Given the description of an element on the screen output the (x, y) to click on. 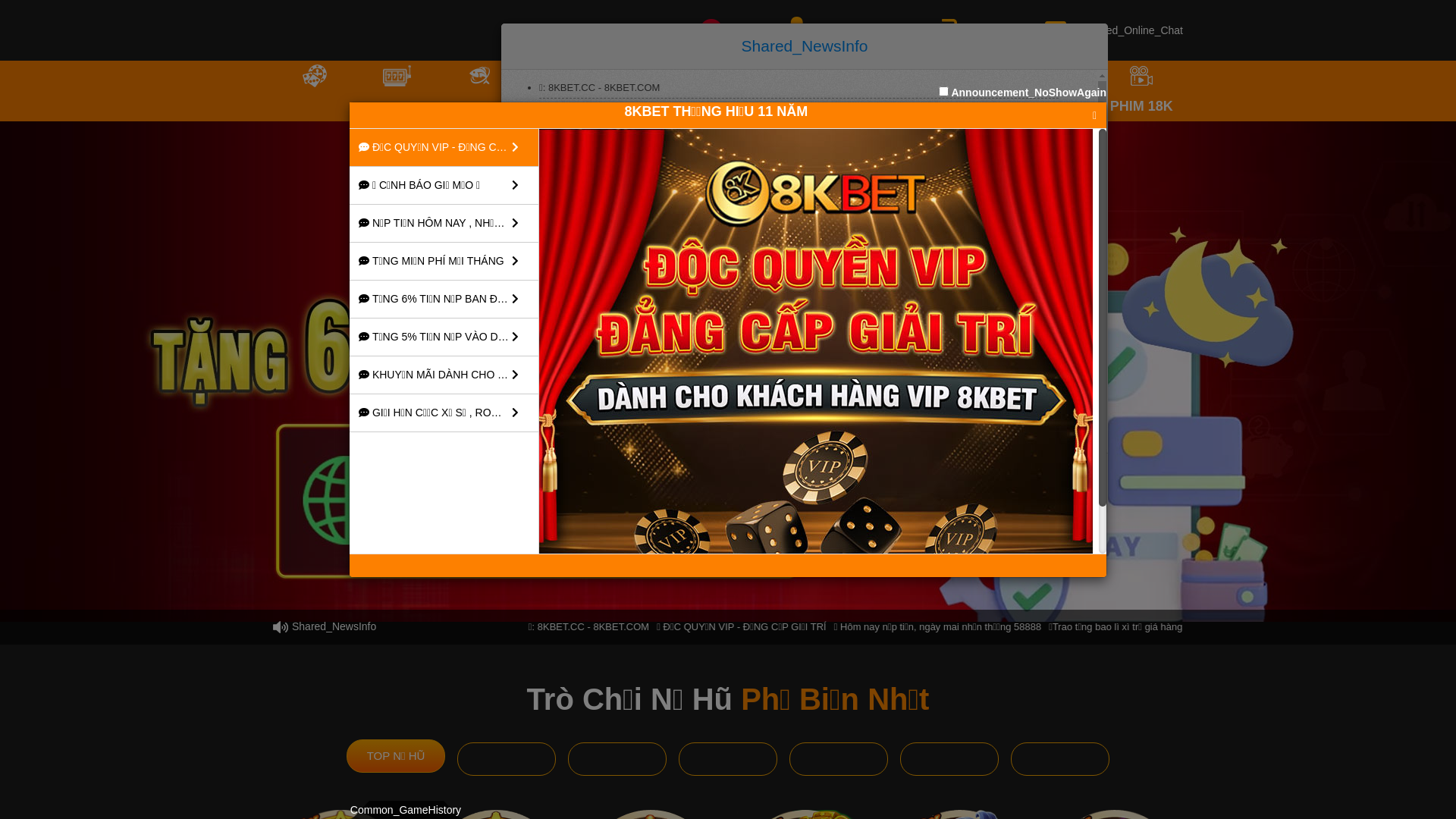
PHIM 18K Element type: text (1141, 90)
